Given the description of an element on the screen output the (x, y) to click on. 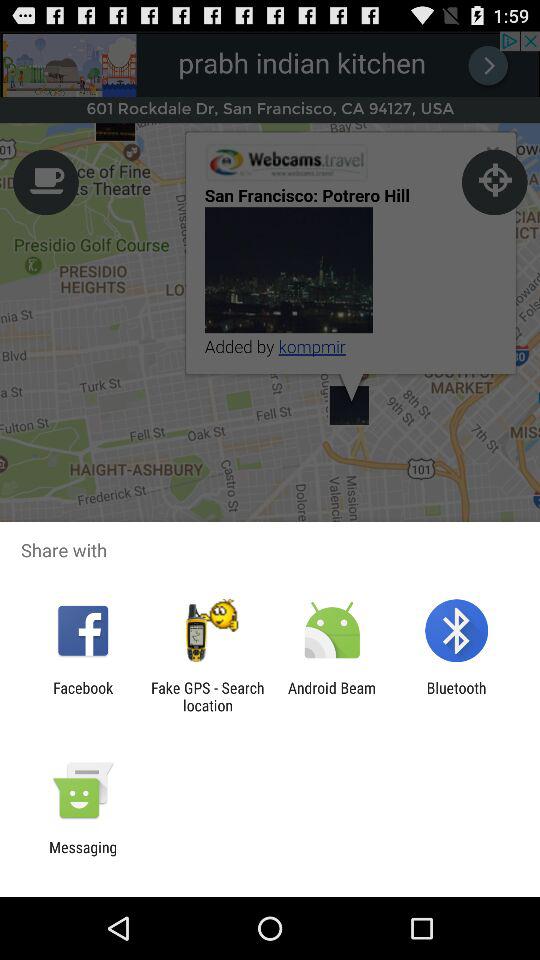
tap icon to the left of fake gps search app (83, 696)
